Given the description of an element on the screen output the (x, y) to click on. 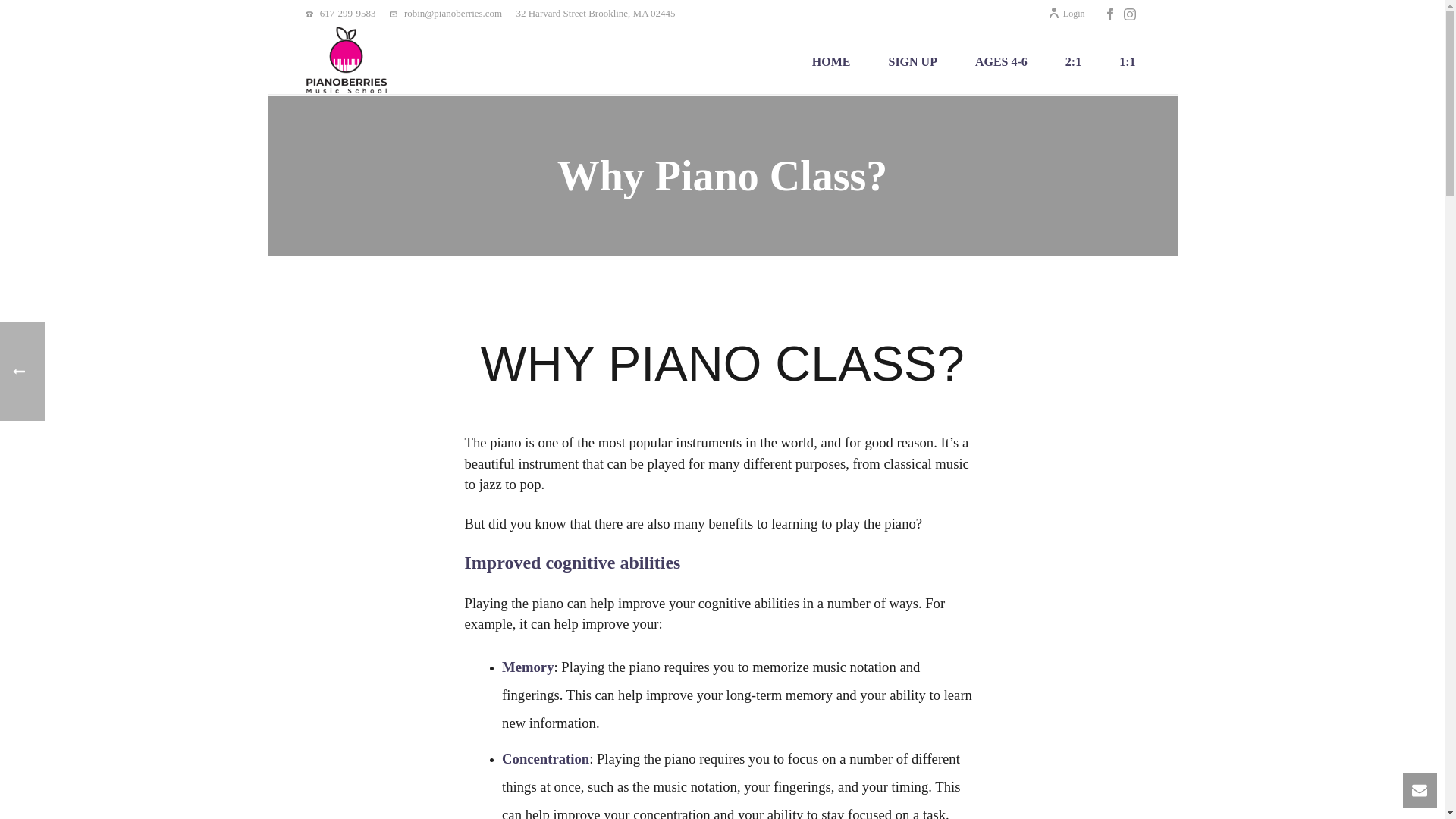
617-299-9583 (347, 12)
Login (1066, 13)
AGES 4-6 (1001, 60)
HOME (831, 60)
HOME (831, 60)
AGES 4-6 (1001, 60)
Inspring children to grow into young musicians  (345, 60)
SIGN UP (912, 60)
SIGN UP (912, 60)
